Given the description of an element on the screen output the (x, y) to click on. 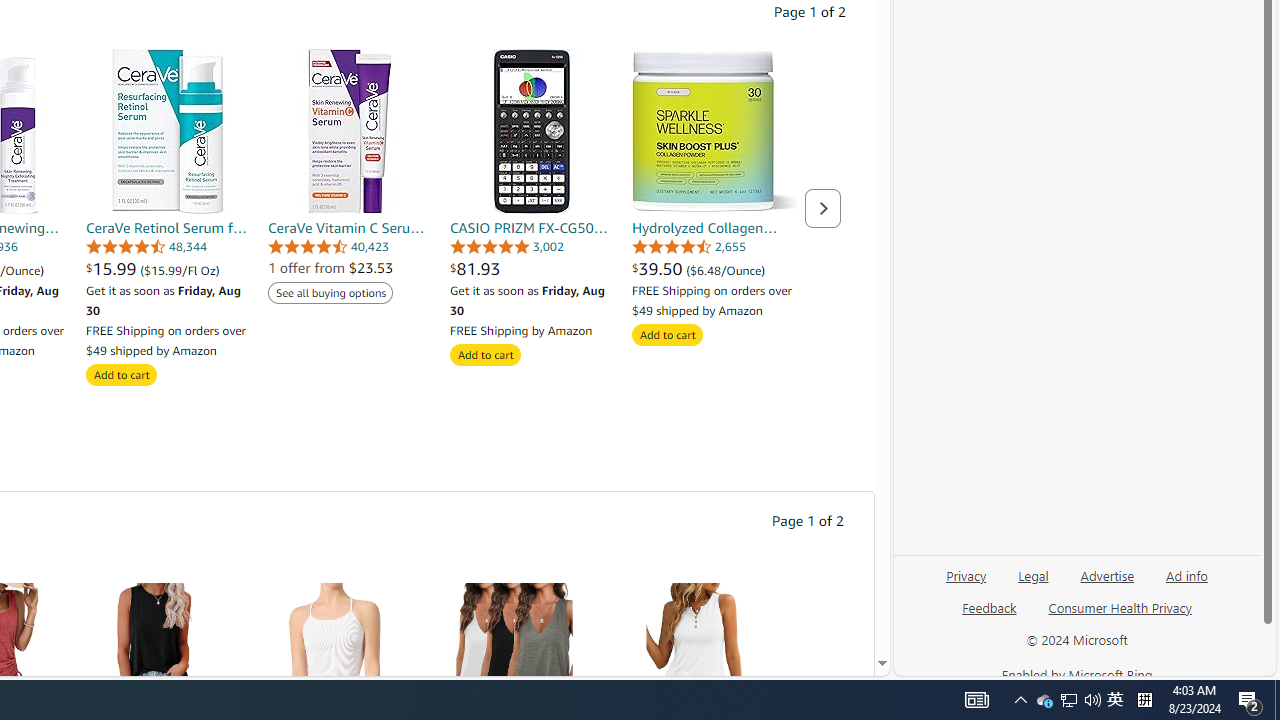
Class: a-link-normal (714, 228)
$15.99  (112, 268)
$39.50  (659, 268)
1 offer from $23.53 (330, 268)
Advertise (1107, 574)
Consumer Health Privacy (1119, 615)
($6.48/Ounce) (725, 269)
